Given the description of an element on the screen output the (x, y) to click on. 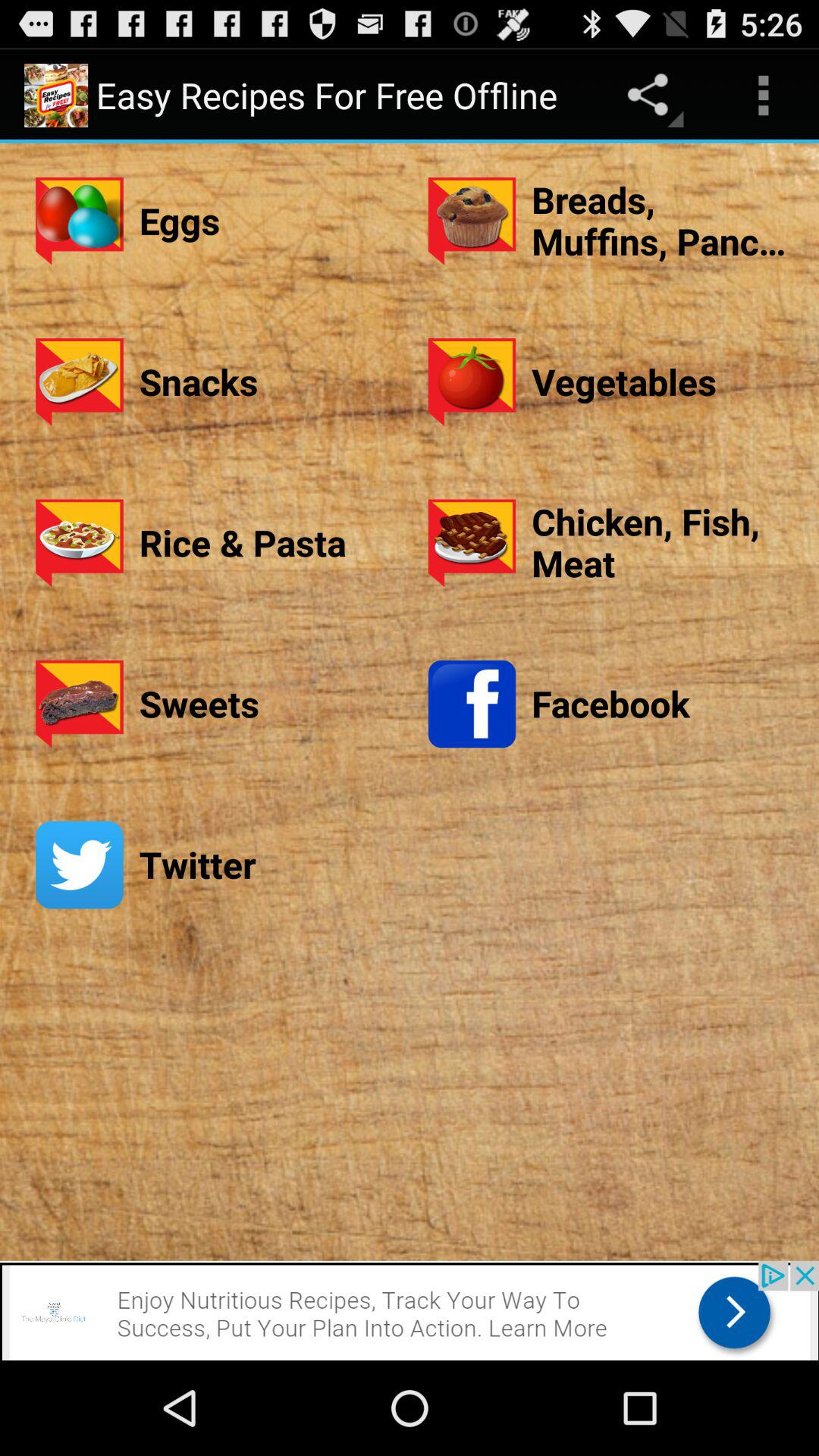
click the advertisement (409, 1310)
